Given the description of an element on the screen output the (x, y) to click on. 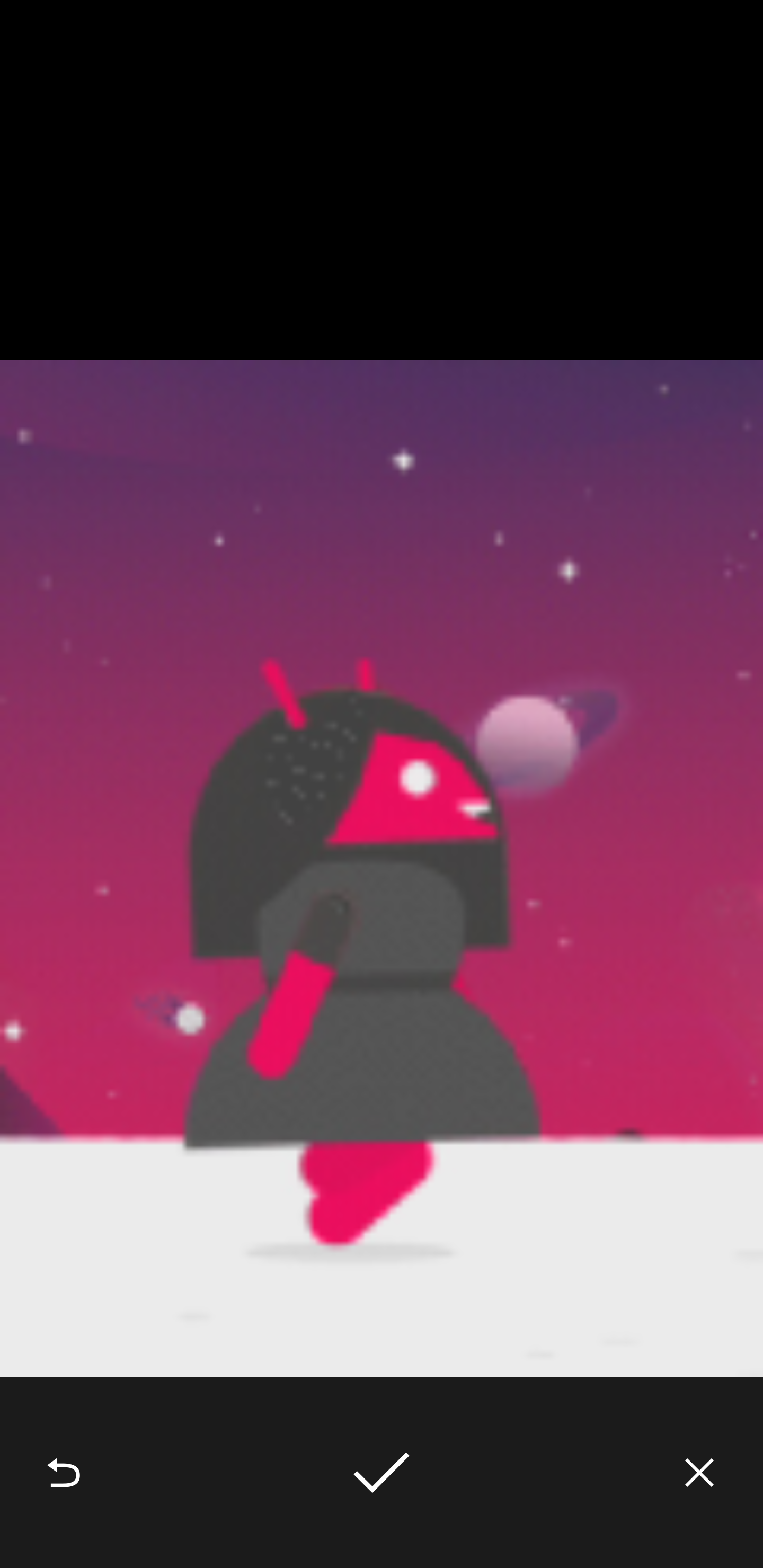
Done (381, 1472)
Retake (63, 1472)
Cancel (699, 1472)
